Given the description of an element on the screen output the (x, y) to click on. 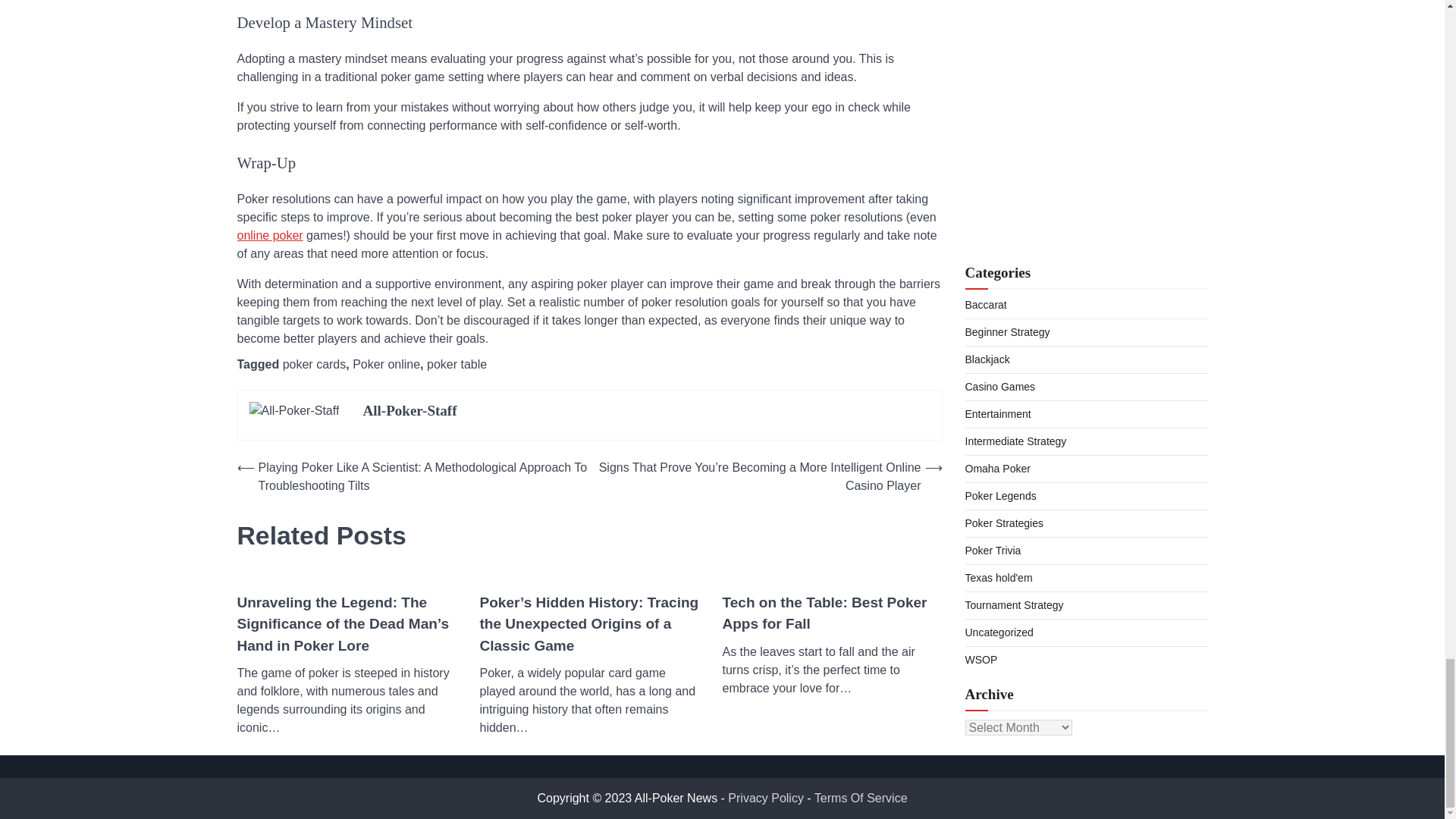
Poker online (386, 364)
Tech on the Table: Best Poker Apps for Fall (832, 613)
poker table (456, 364)
poker cards (314, 364)
online poker (268, 235)
